Given the description of an element on the screen output the (x, y) to click on. 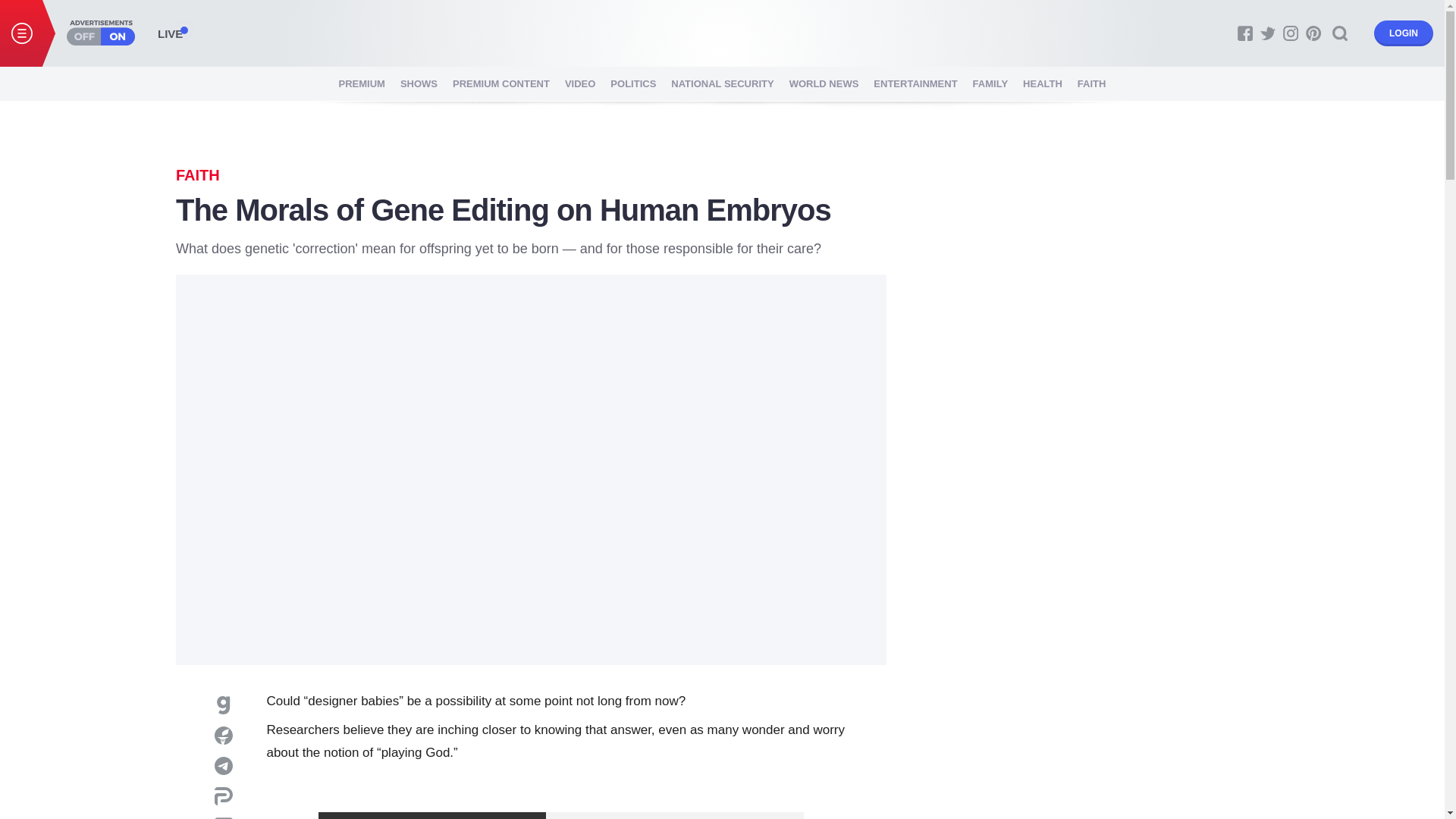
VIDEO (579, 83)
Search (1339, 33)
LIVE (169, 32)
Pinterest (1313, 32)
PREMIUM (362, 83)
Twitter (1267, 32)
SHOWS (419, 83)
Instagram (1290, 32)
WORLD NEWS (823, 83)
NATIONAL SECURITY (721, 83)
